Given the description of an element on the screen output the (x, y) to click on. 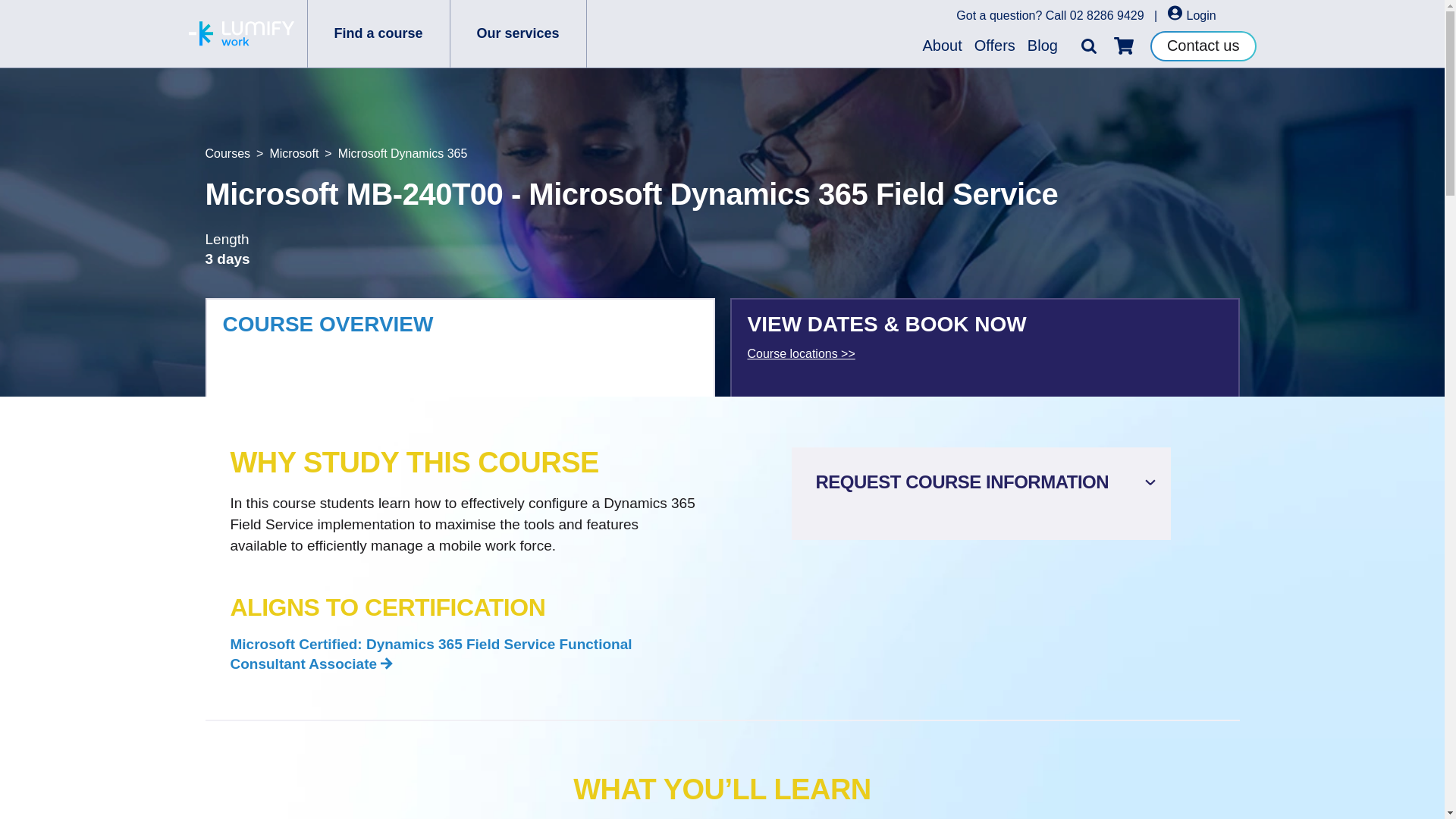
Microsoft (293, 153)
Checkout (1123, 46)
Blog (1043, 45)
Find a course (378, 33)
About (941, 45)
homepage (240, 33)
Login (1191, 15)
Microsoft Dynamics 365 (402, 153)
Courses (227, 153)
Our services (517, 33)
Offers (995, 45)
02 8286 9429 (1107, 15)
show form (986, 482)
Contact us (1203, 45)
